Given the description of an element on the screen output the (x, y) to click on. 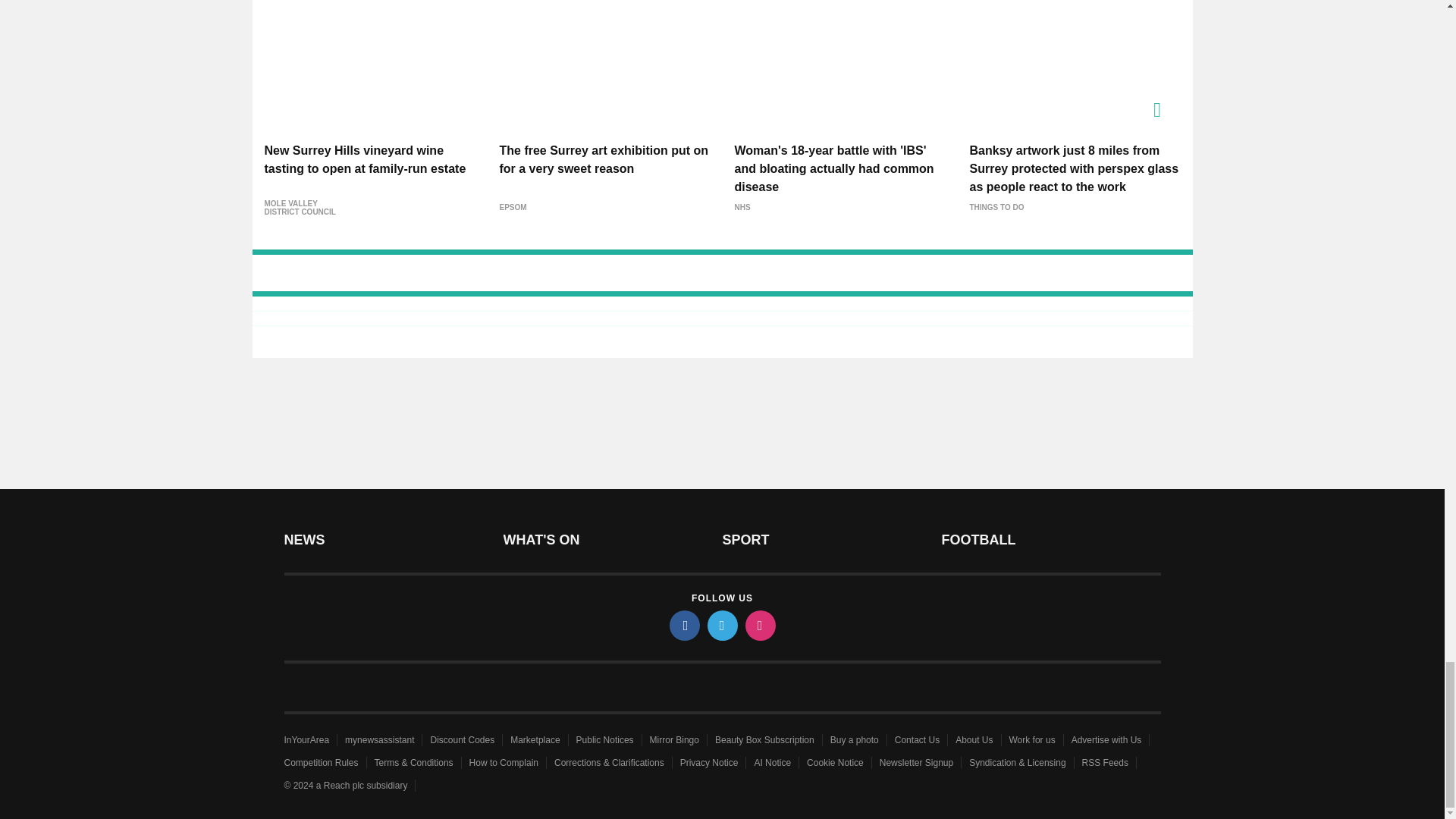
instagram (759, 625)
facebook (683, 625)
twitter (721, 625)
